Given the description of an element on the screen output the (x, y) to click on. 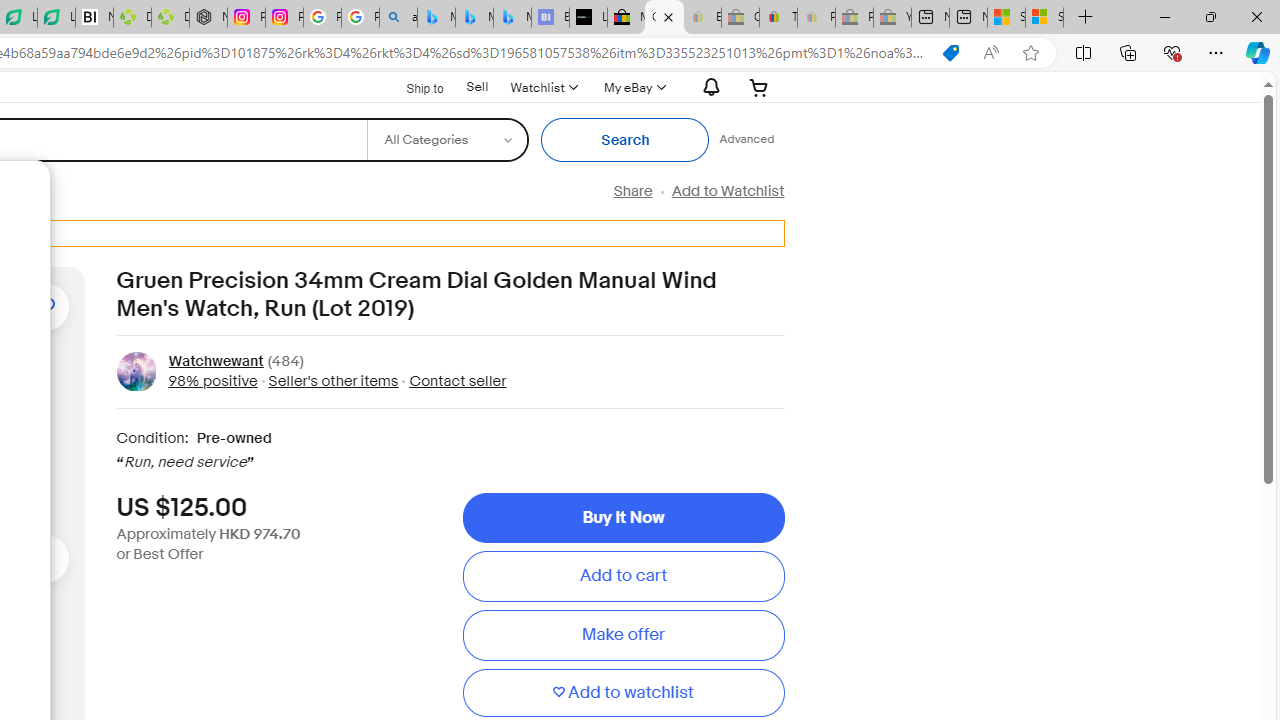
WatchlistExpand Watch List (543, 87)
Buy It Now (623, 517)
Nvidia va a poner a prueba la paciencia de los inversores (93, 17)
AutomationID: gh-eb-Alerts (708, 87)
Add to cart (623, 576)
Add to Watchlist (727, 191)
You have the best price! Shopping in Microsoft Edge (950, 53)
Add to watchlist (623, 692)
Ship to (412, 85)
Watchwewant (215, 361)
Watchlist (543, 87)
  Contact seller (452, 380)
